Given the description of an element on the screen output the (x, y) to click on. 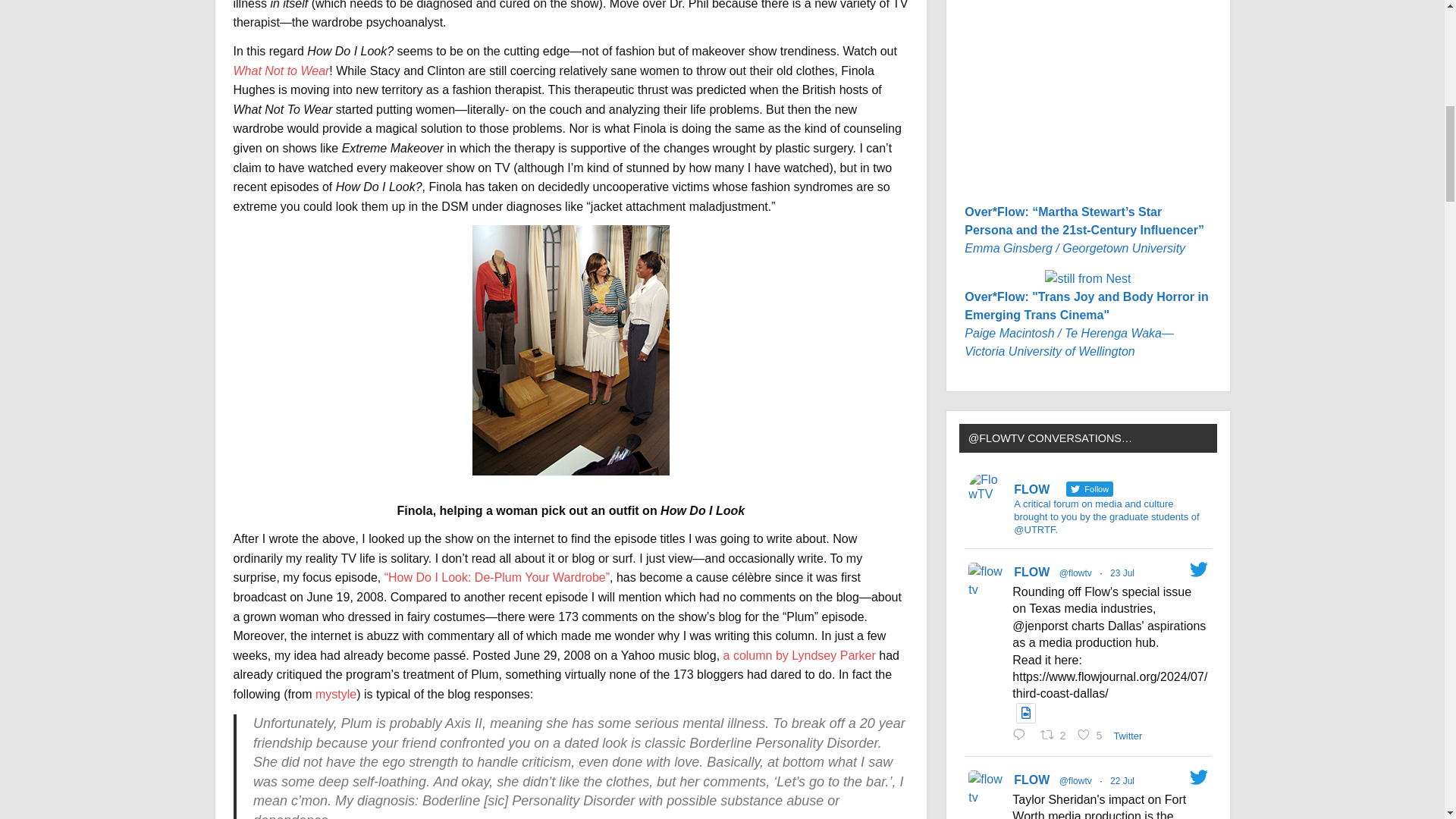
What Not to Wear (281, 70)
a column by Lyndsey Parker (799, 655)
mystyle (335, 694)
